Given the description of an element on the screen output the (x, y) to click on. 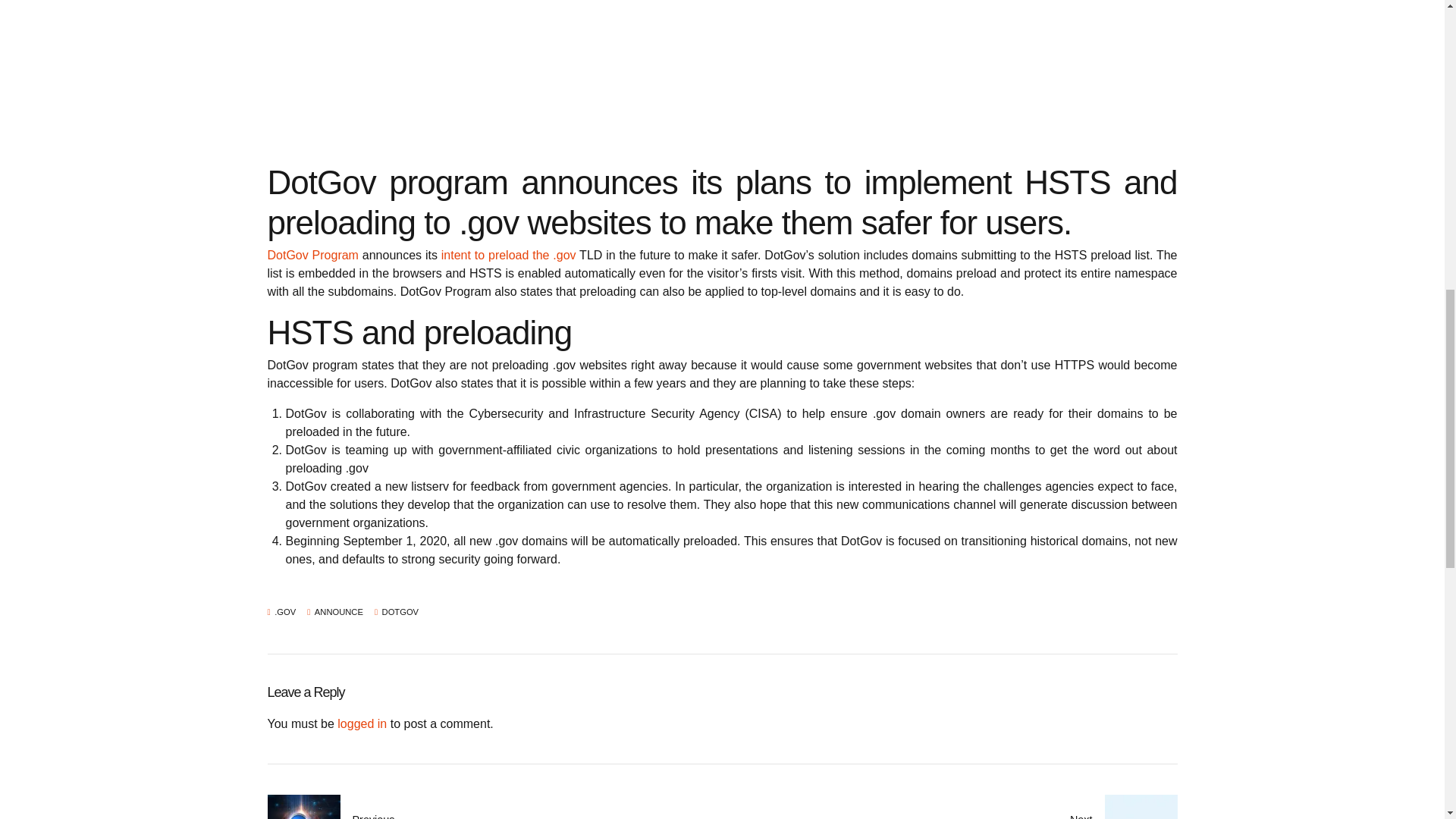
intent to preload the .gov (508, 254)
DotGov Program (312, 254)
.GOV (280, 612)
ANNOUNCE (334, 612)
DOTGOV (396, 612)
